Given the description of an element on the screen output the (x, y) to click on. 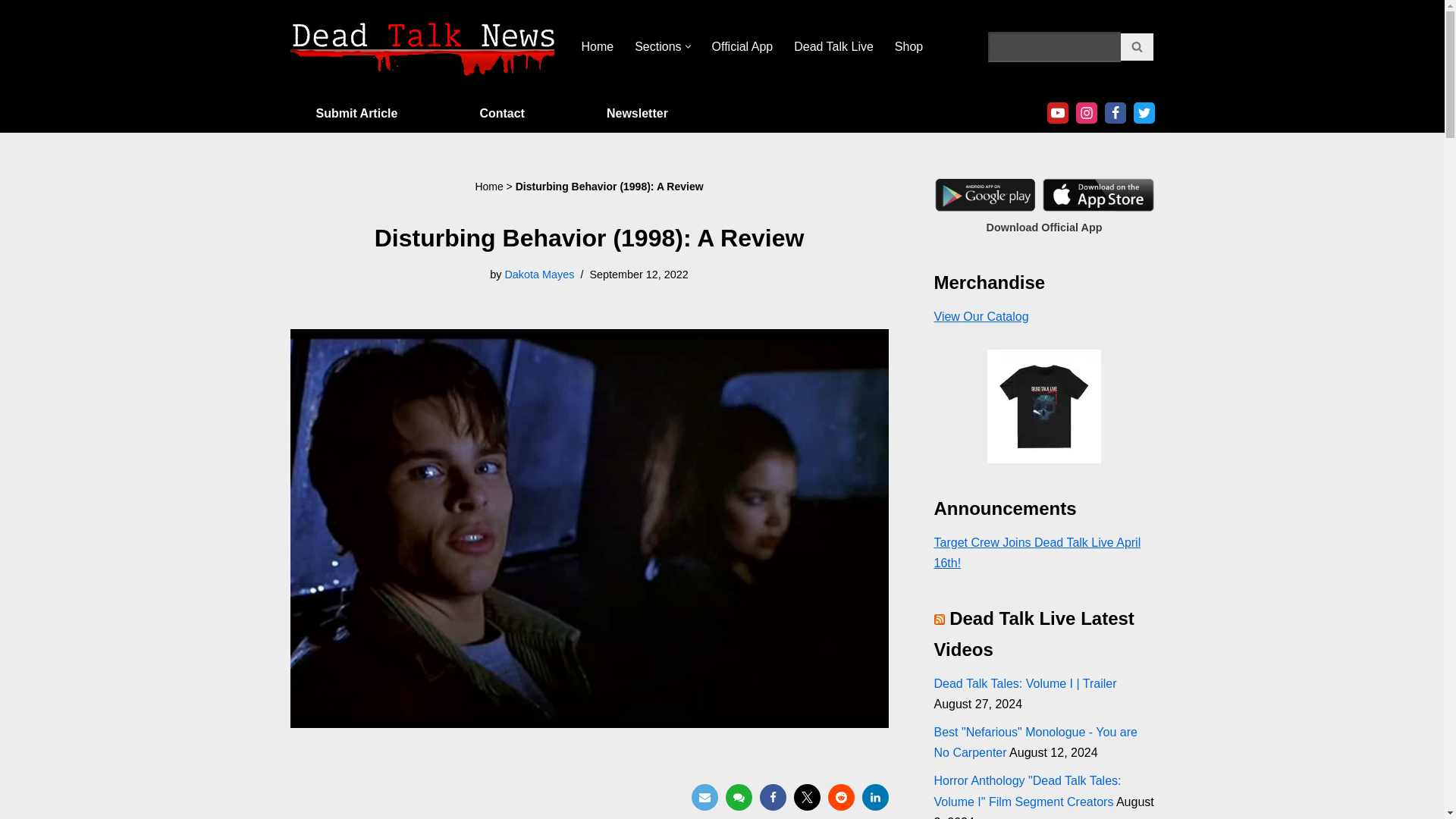
Home (596, 46)
Twitter (806, 796)
Facebook (1114, 112)
Contact (501, 113)
Sections (657, 46)
Shop (909, 46)
Submit Article (356, 113)
Official App (742, 46)
Skip to content (11, 31)
Instagram (1085, 112)
